Given the description of an element on the screen output the (x, y) to click on. 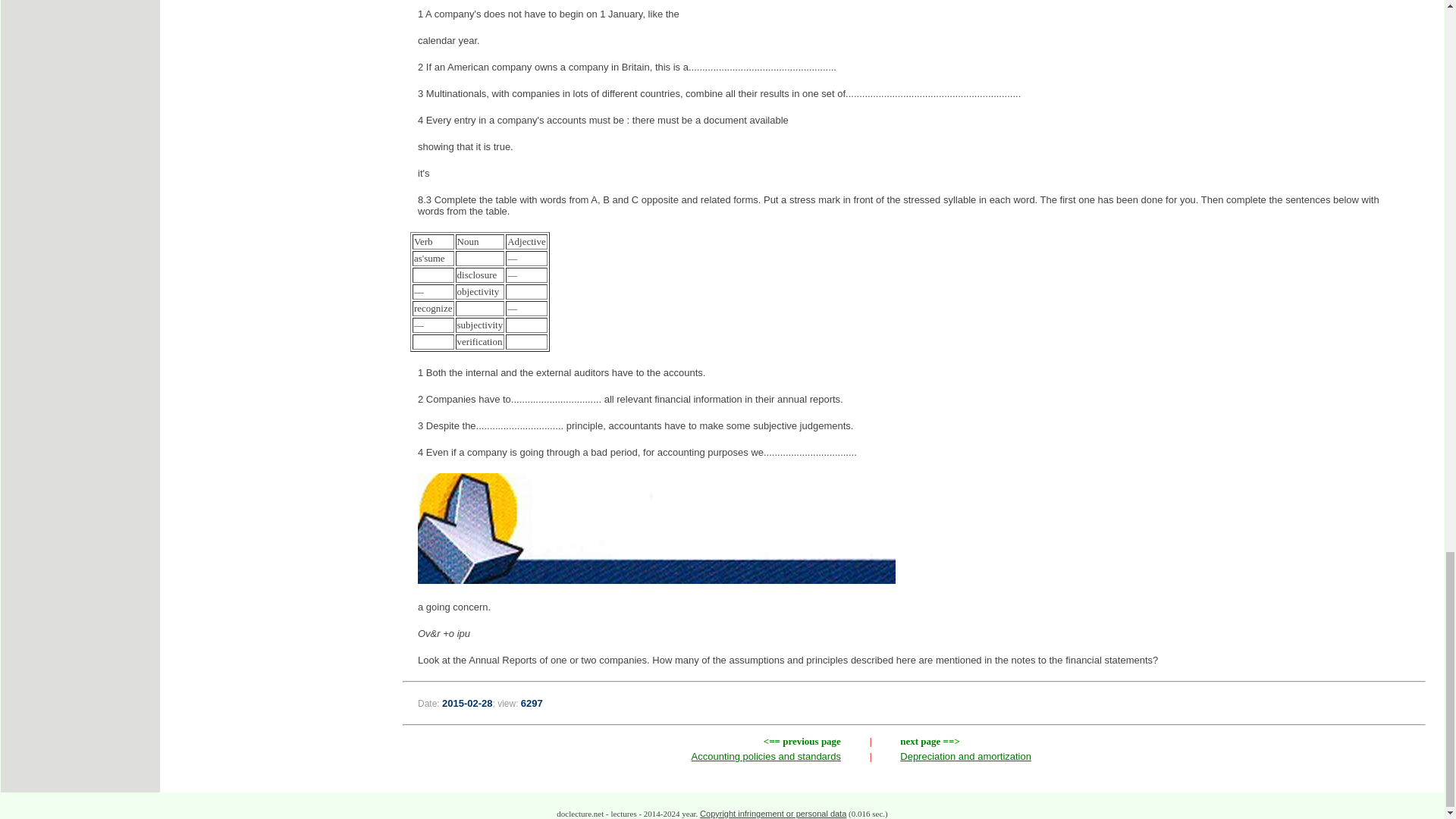
Accounting policies and standards (766, 756)
Copyright infringement or personal data (772, 813)
Depreciation and amortization (964, 756)
